Given the description of an element on the screen output the (x, y) to click on. 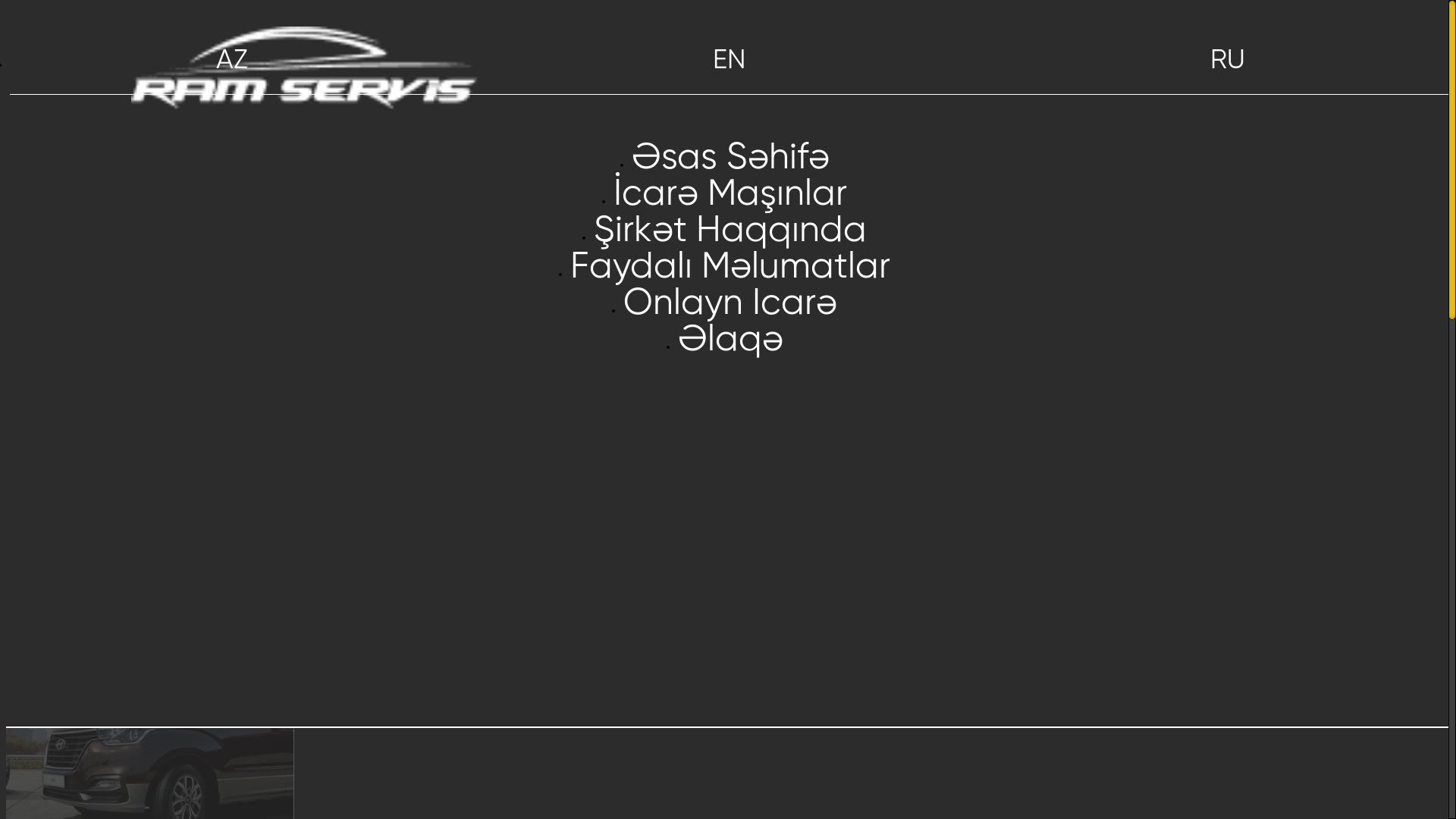
AZ Element type: text (231, 60)
info@ramservis.az Element type: text (853, 35)
EN Element type: text (728, 60)
+994 (70) 246 46 01 Element type: text (1010, 35)
+994 12 511 32 44 Element type: text (1164, 35)
RU Element type: text (1227, 60)
